Given the description of an element on the screen output the (x, y) to click on. 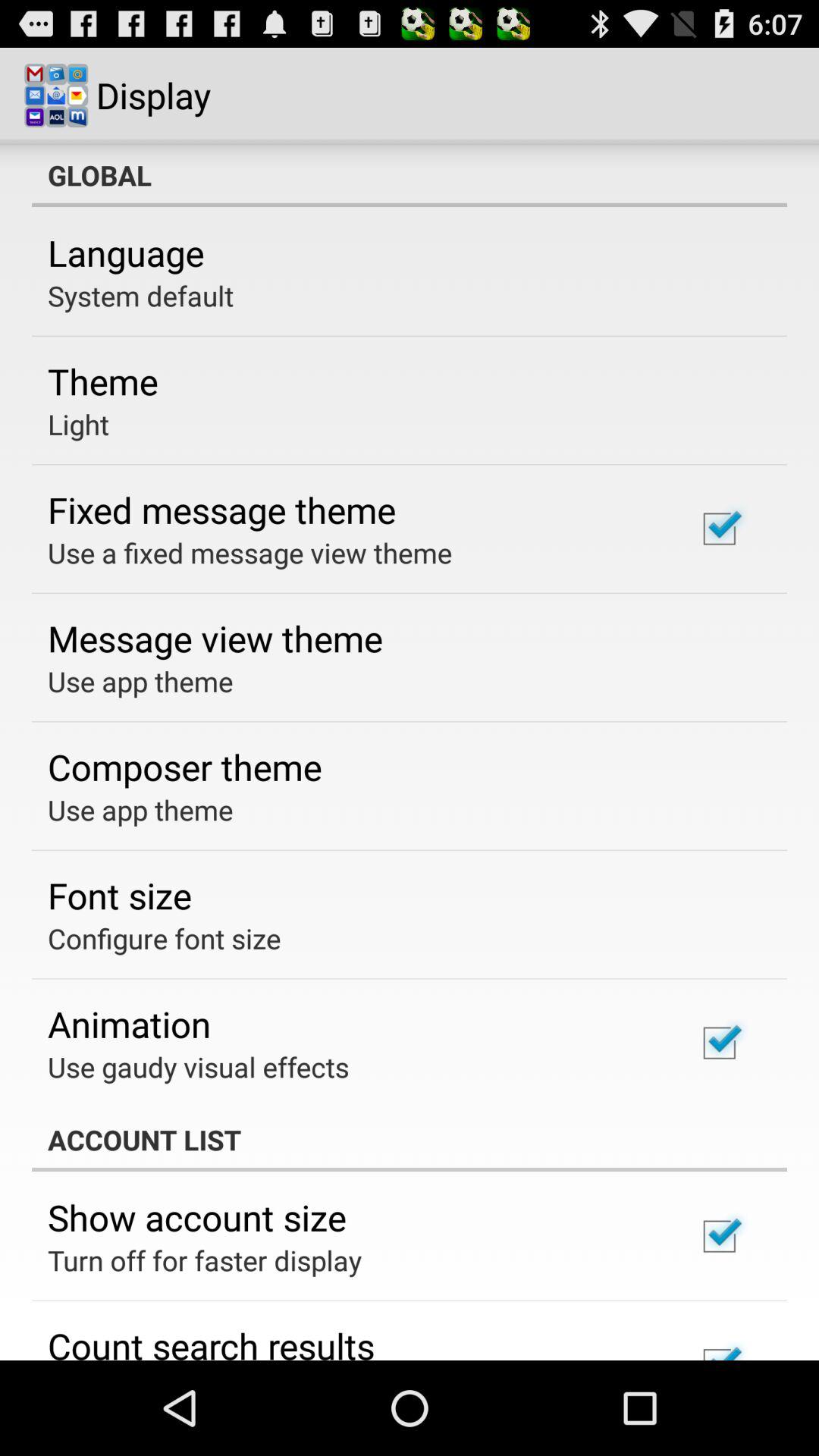
flip until the use gaudy visual icon (198, 1066)
